Given the description of an element on the screen output the (x, y) to click on. 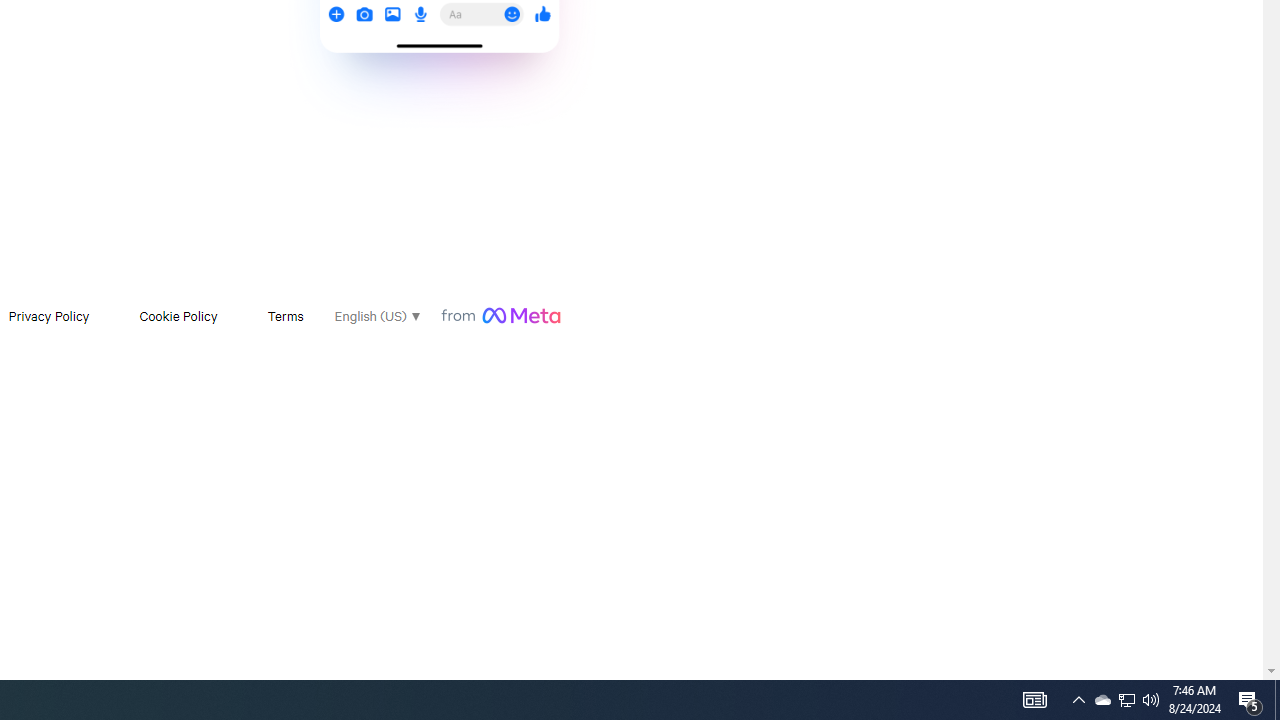
Cookie Policy (178, 315)
From Meta Logo (500, 315)
Terms (284, 315)
English (US) (376, 315)
